Given the description of an element on the screen output the (x, y) to click on. 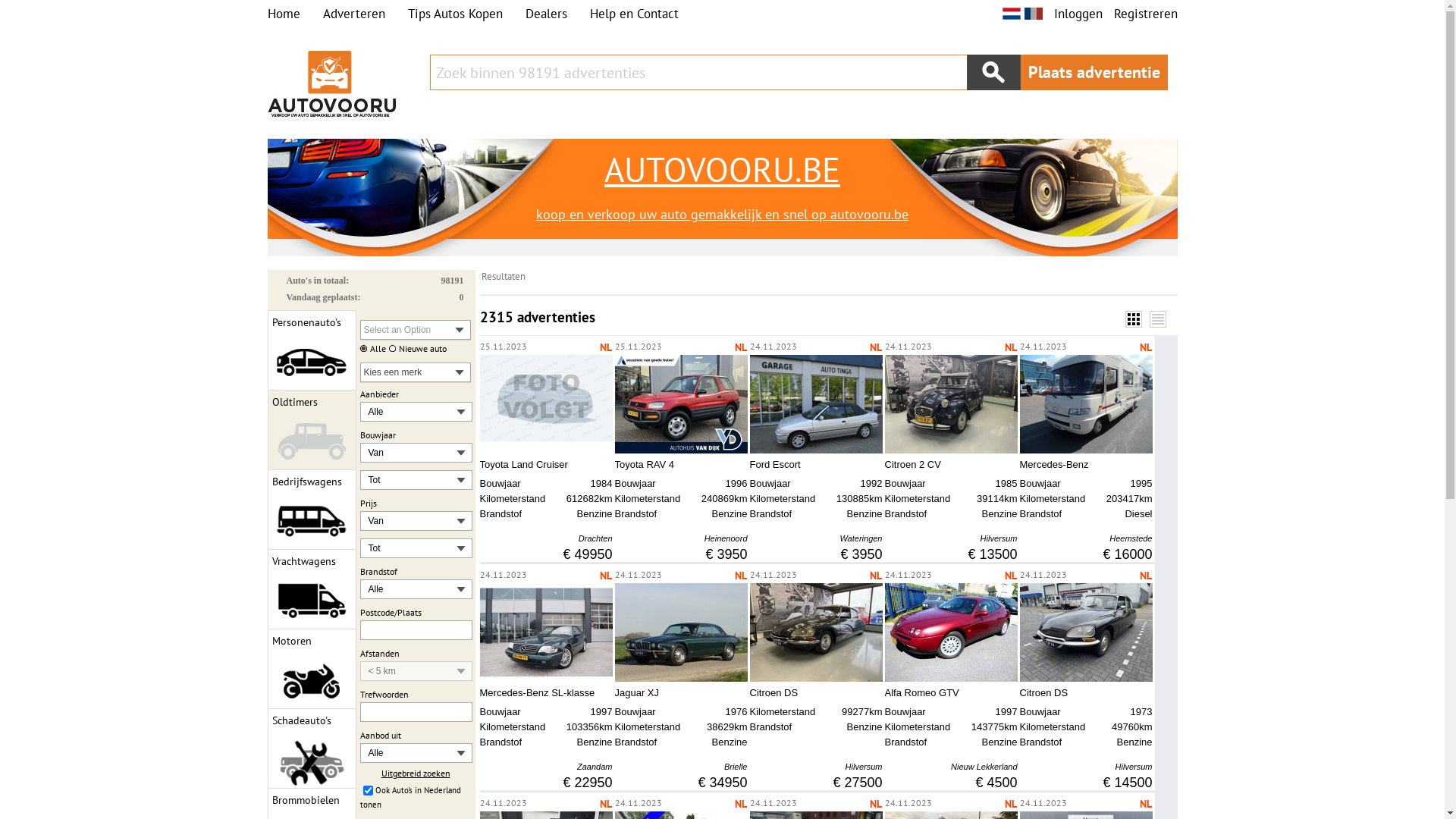
Alle Element type: text (405, 589)
Plaats advertentie Element type: text (1093, 72)
Oldtimers Element type: text (310, 430)
Help en Contact Element type: text (633, 13)
Personenauto's Element type: text (310, 350)
Select an Option Element type: text (414, 329)
Tot Element type: text (405, 548)
< 5 km Element type: text (405, 671)
Schadeauto's Element type: text (310, 748)
Tips Autos Kopen Element type: text (454, 13)
Registreren Element type: text (1144, 13)
Tot Element type: text (405, 479)
Inloggen Element type: text (1078, 13)
Dealers Element type: text (545, 13)
Van Element type: text (405, 452)
Bedrijfswagens Element type: text (310, 509)
Frans Element type: hover (1032, 13)
AUTOVOORU.BE Element type: text (721, 168)
Nederlands Element type: hover (1011, 13)
Motoren Element type: text (310, 669)
Adverteren Element type: text (354, 13)
Van Element type: text (405, 520)
Vrachtwagens Element type: text (310, 589)
Uitgebreid zoeken Element type: text (414, 772)
Alle Element type: text (405, 411)
koop en verkoop uw auto gemakkelijk en snel op autovooru.be Element type: text (721, 214)
Kies een merk Element type: text (414, 372)
Alle Element type: text (405, 752)
Home Element type: text (282, 13)
